Given the description of an element on the screen output the (x, y) to click on. 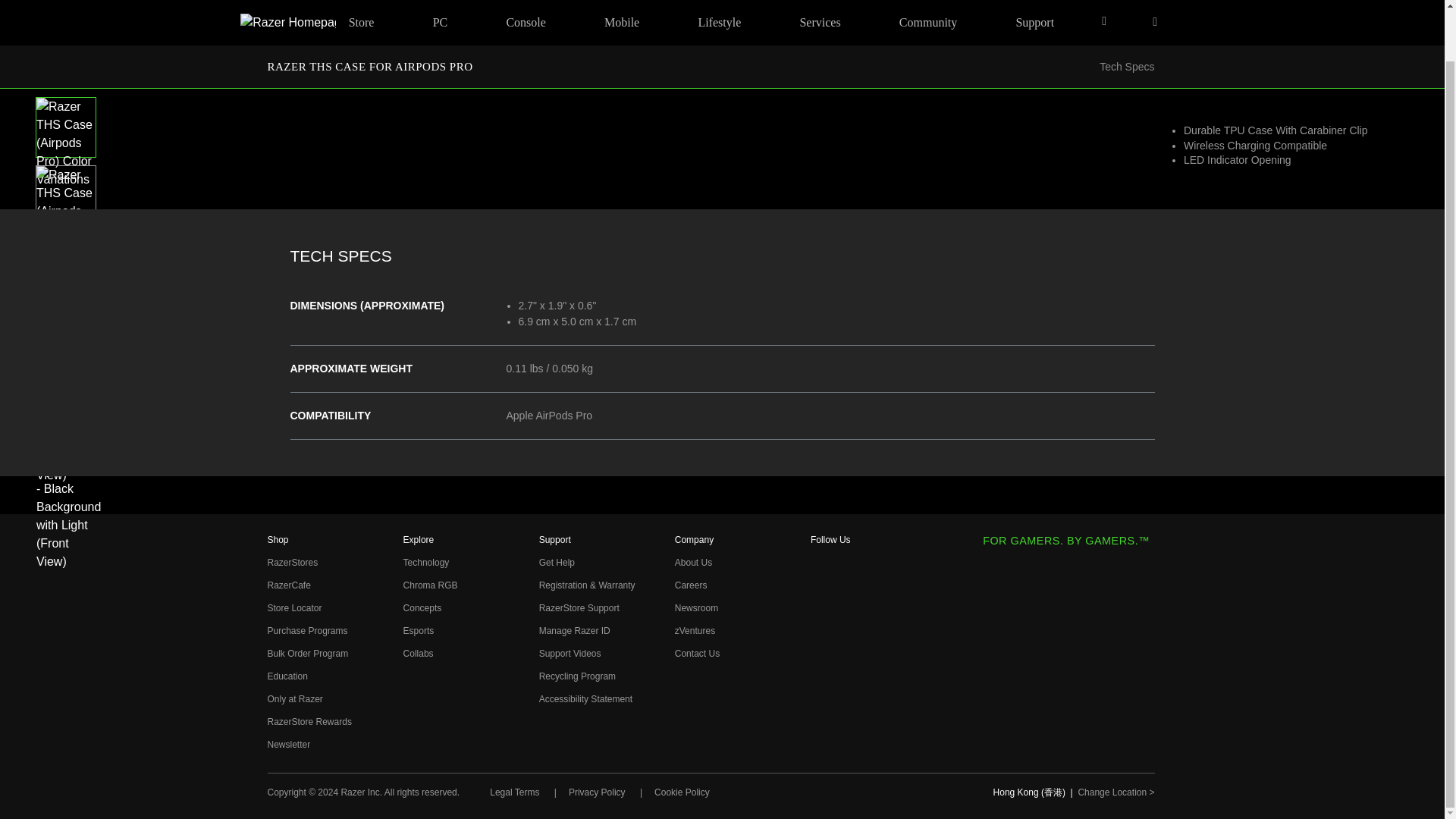
Collabs (418, 653)
TikTok (820, 690)
Education (286, 675)
Only at Razer (293, 698)
RazerCafe (288, 584)
Bulk Order Program (306, 653)
Newsletter (288, 744)
Get Help (556, 562)
Instagram (820, 590)
Discord (820, 741)
